Given the description of an element on the screen output the (x, y) to click on. 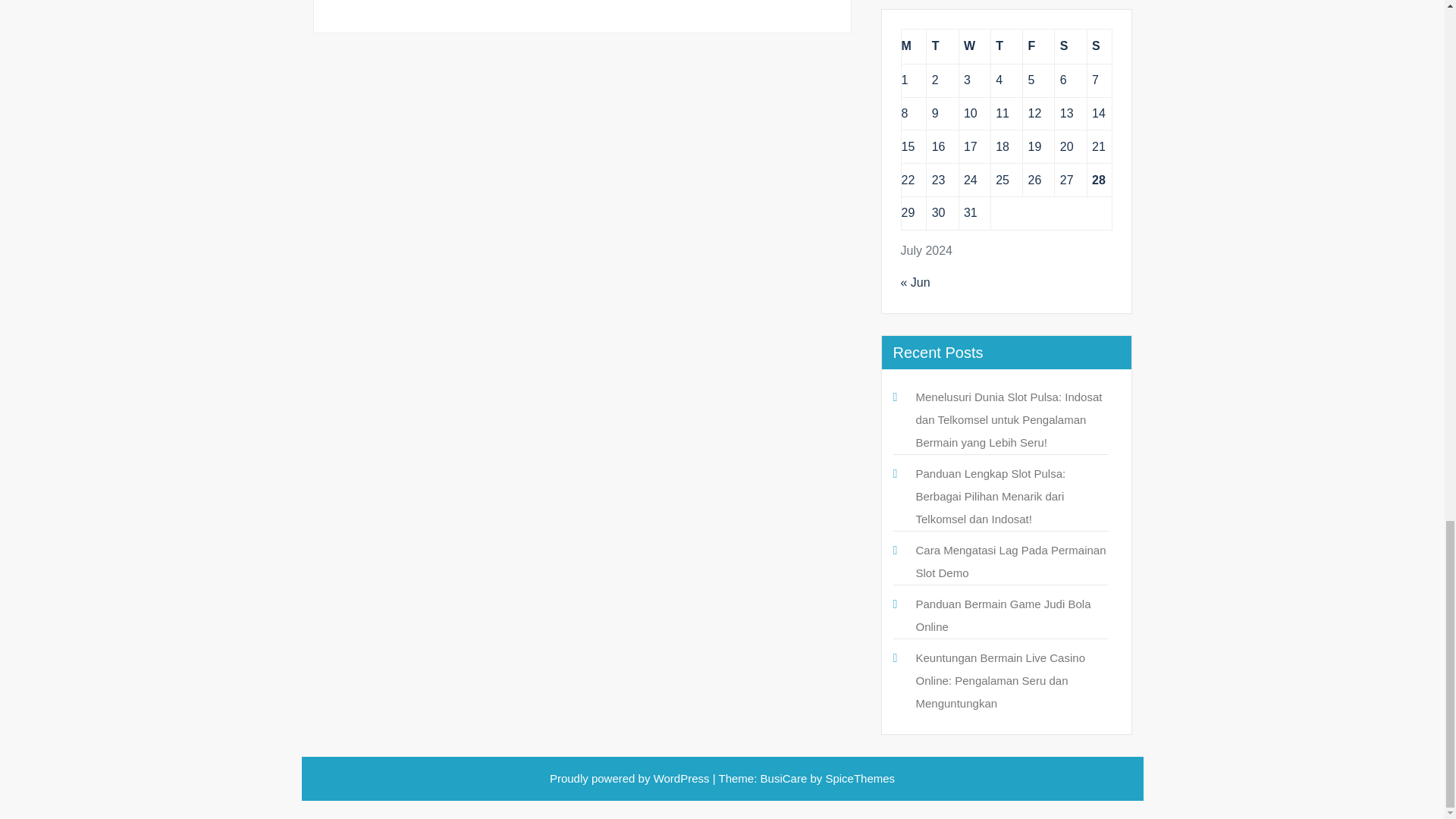
Thursday (1006, 46)
Tuesday (942, 46)
1 (904, 79)
Monday (913, 46)
Wednesday (974, 46)
Sunday (1099, 46)
Friday (1038, 46)
Saturday (1070, 46)
